Given the description of an element on the screen output the (x, y) to click on. 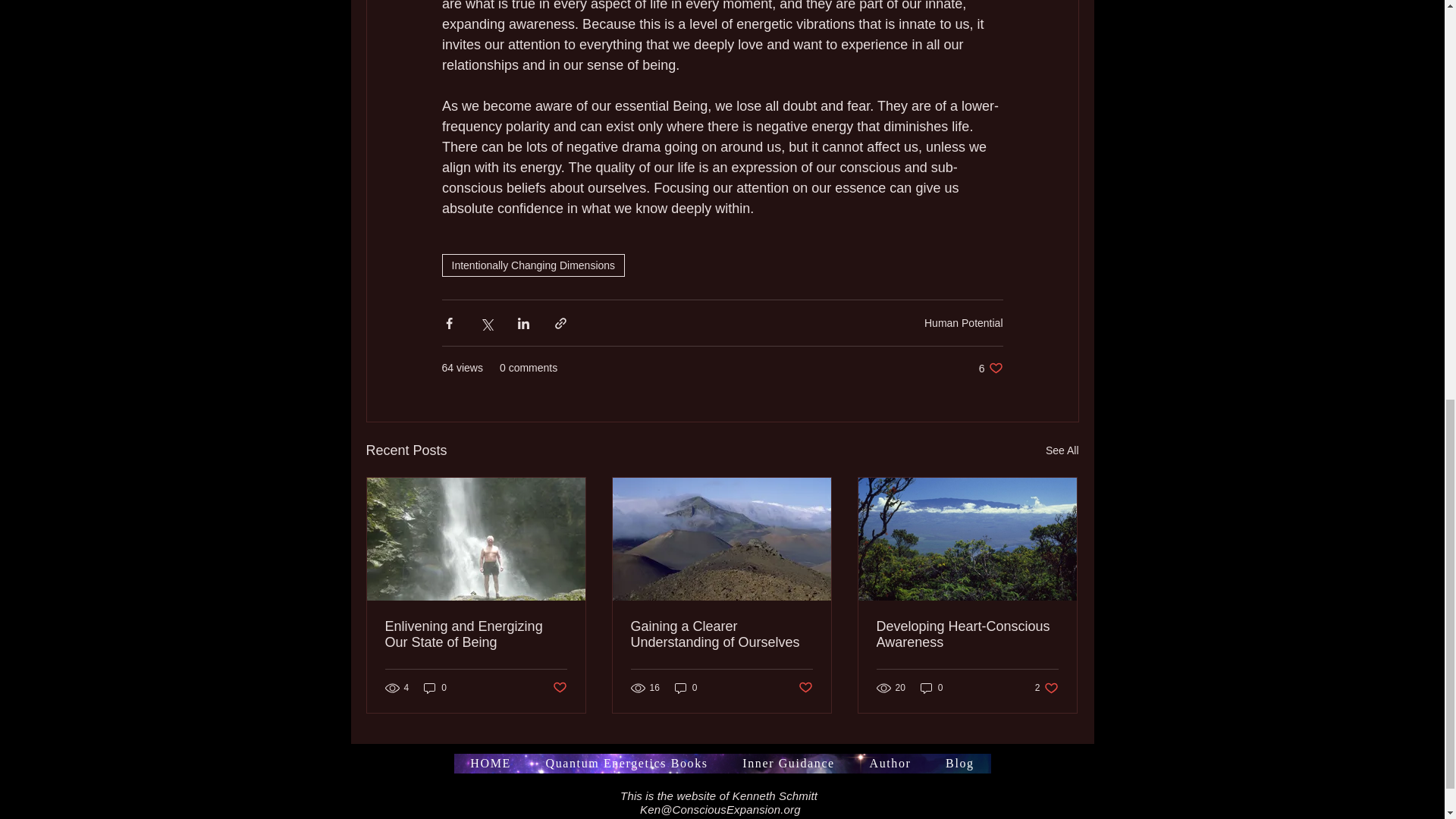
Human Potential (963, 322)
Quantum Energetics Books (627, 763)
Inner Guidance (787, 763)
0 (435, 687)
Blog (1046, 687)
See All (959, 763)
Developing Heart-Conscious Awareness (1061, 450)
0 (967, 634)
Author (931, 687)
